Given the description of an element on the screen output the (x, y) to click on. 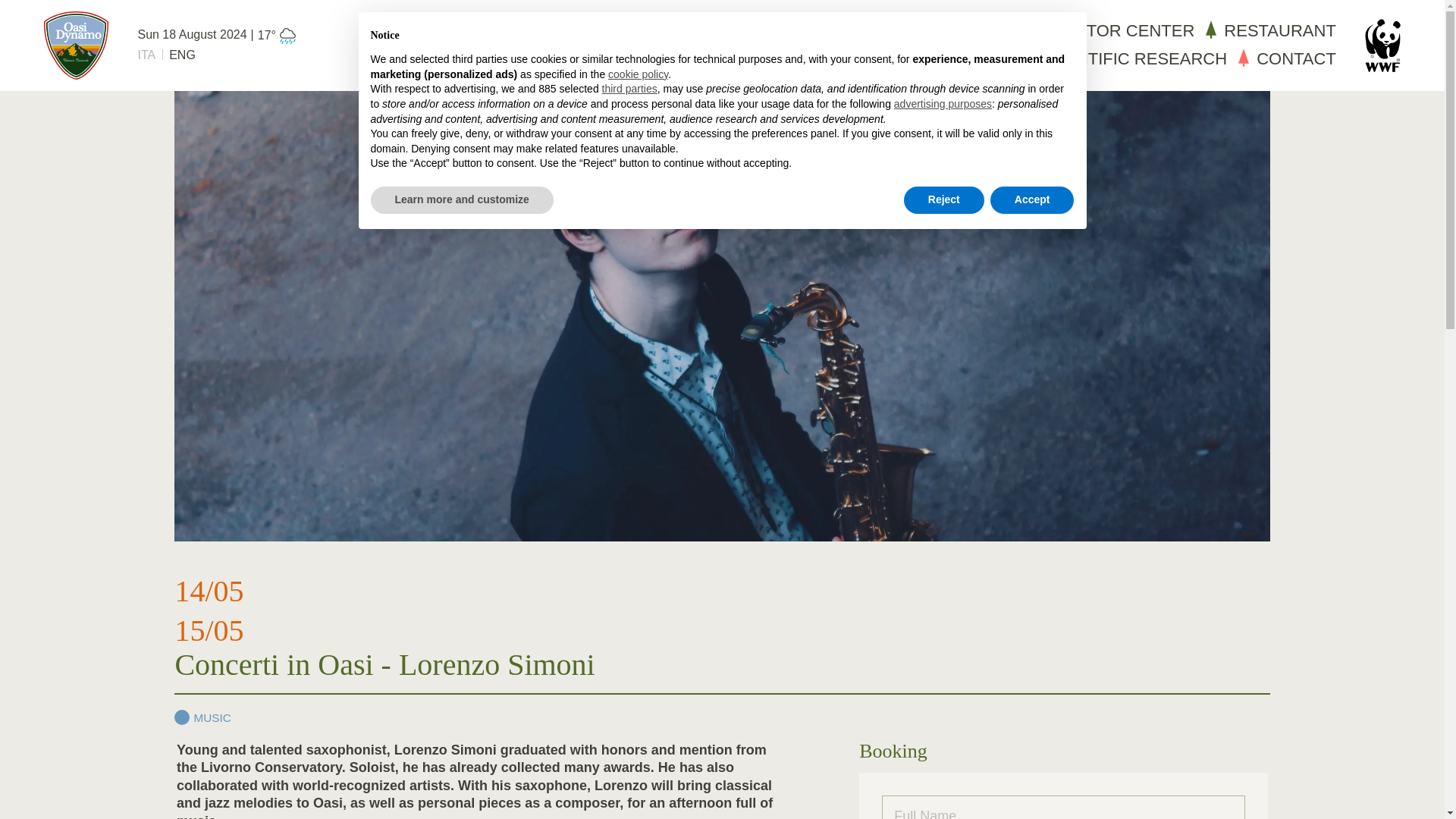
third parties (630, 89)
ITA (145, 55)
EXPERIENCES (828, 59)
ENG (181, 55)
music (202, 718)
advertising purposes (942, 104)
SCIENTIFIC RESEARCH (1120, 59)
home (75, 45)
EVENTS CALENDAR (933, 31)
PROJECT (957, 59)
